Given the description of an element on the screen output the (x, y) to click on. 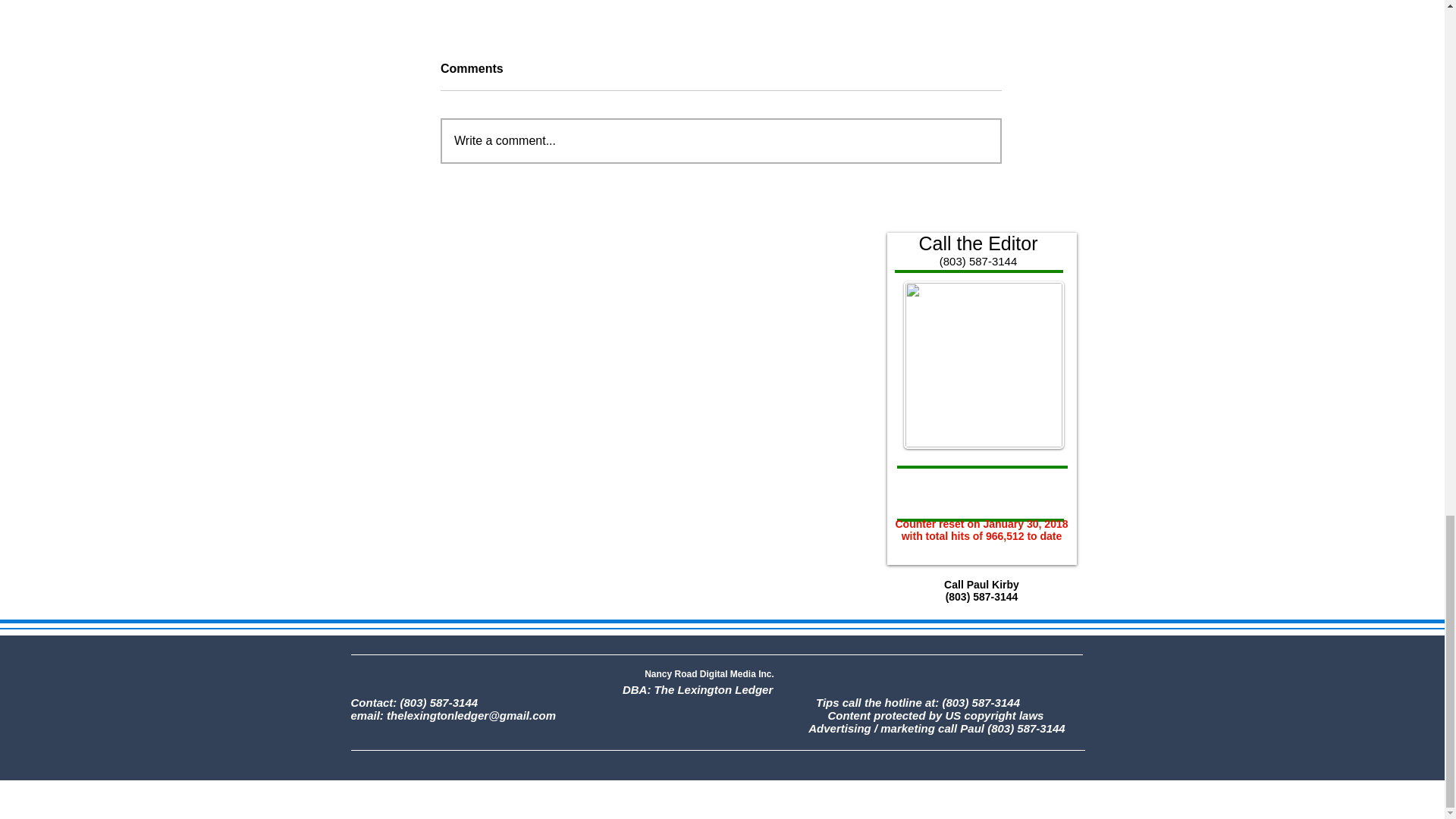
Write a comment... (721, 140)
